Given the description of an element on the screen output the (x, y) to click on. 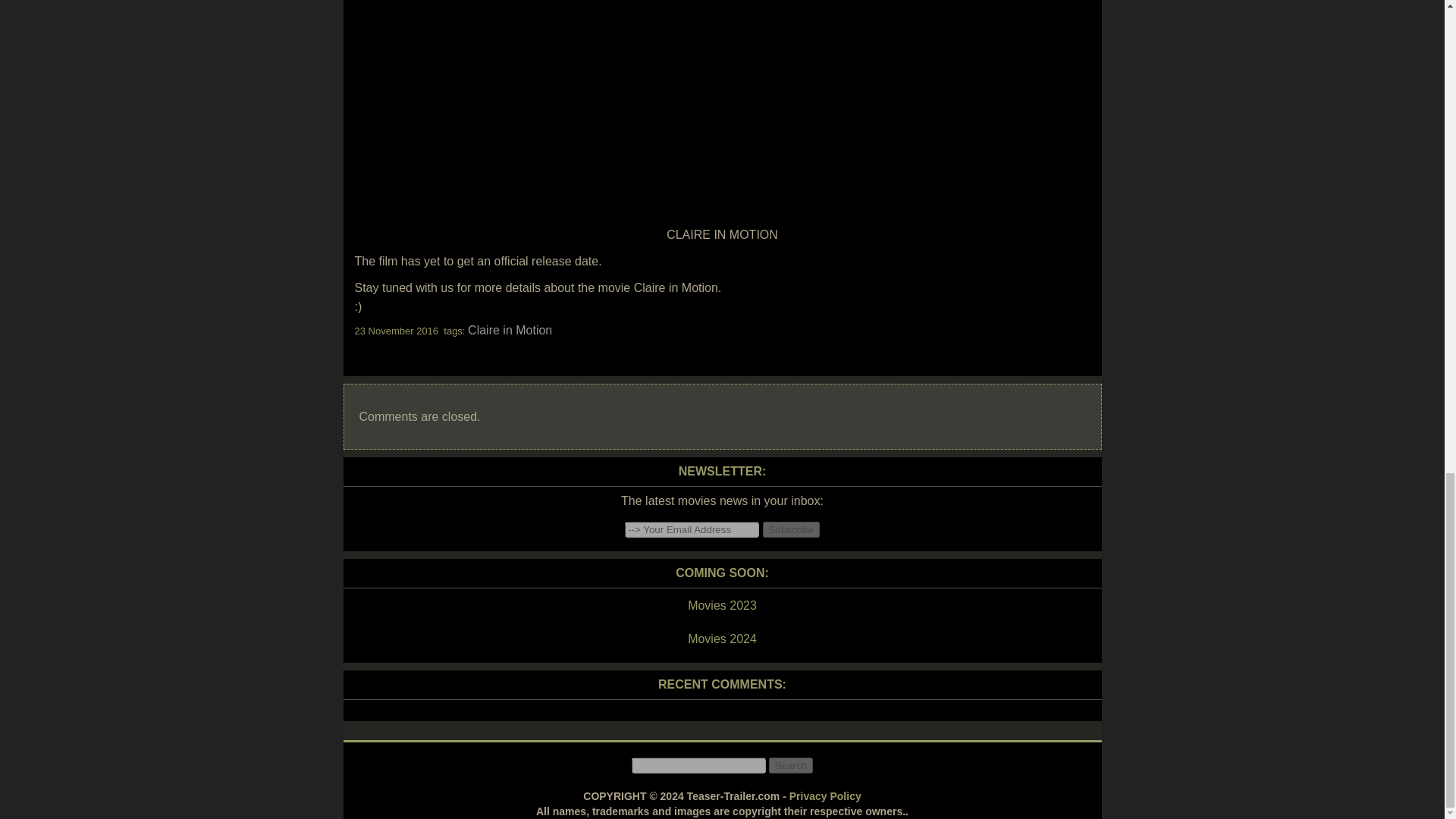
Subscribe (790, 529)
Claire in Motion (509, 329)
Subscribe (790, 529)
Search (790, 765)
Privacy Policy (825, 796)
Search (790, 765)
Movies 2024 (721, 639)
Movies 2023 (721, 605)
